Given the description of an element on the screen output the (x, y) to click on. 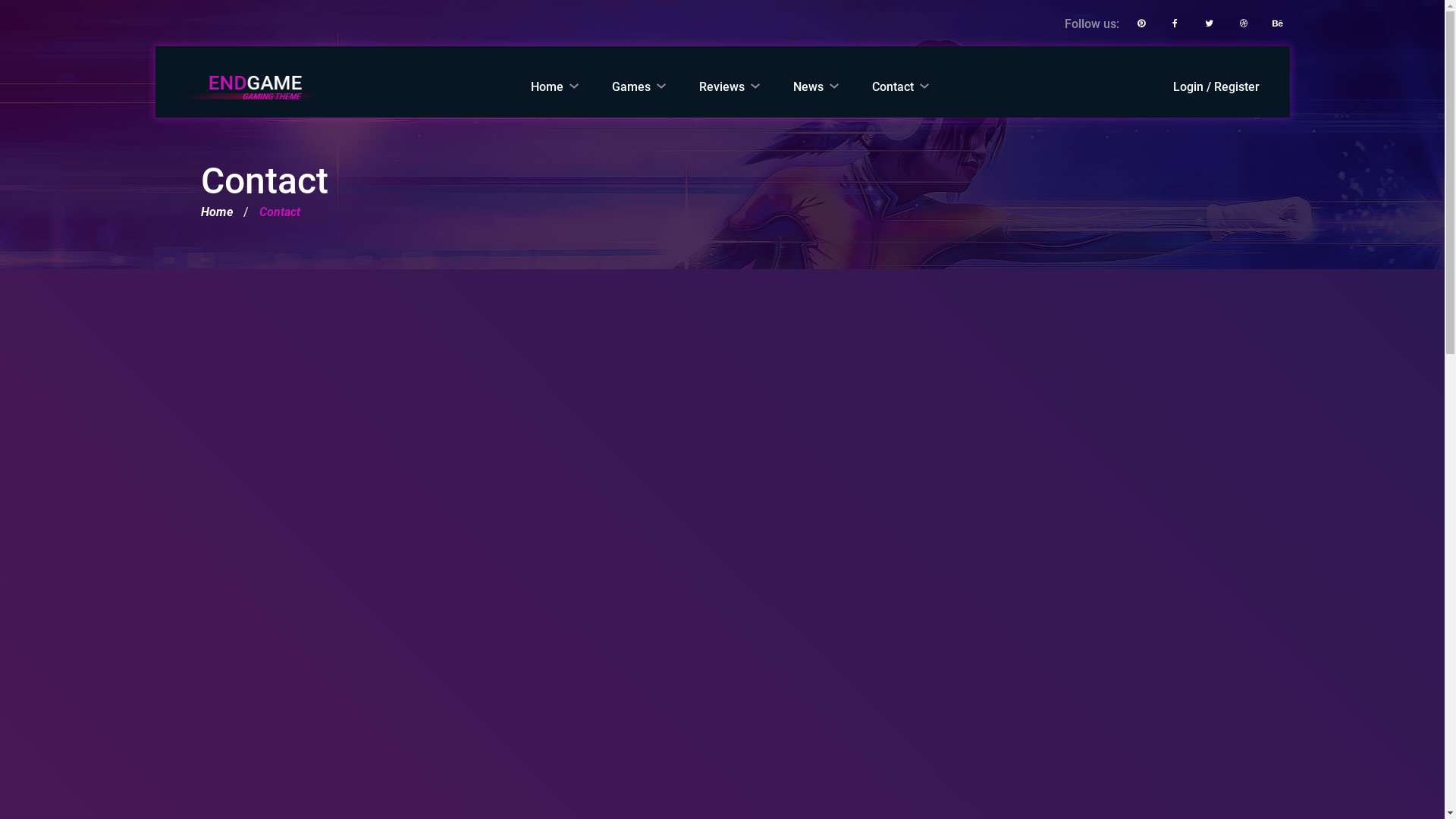
Login Element type: text (1187, 86)
Reviews Element type: text (729, 97)
Contact Element type: text (900, 97)
Home Element type: text (554, 97)
Home Element type: text (216, 211)
Register Element type: text (1235, 86)
Games Element type: text (638, 97)
News Element type: text (815, 97)
